Given the description of an element on the screen output the (x, y) to click on. 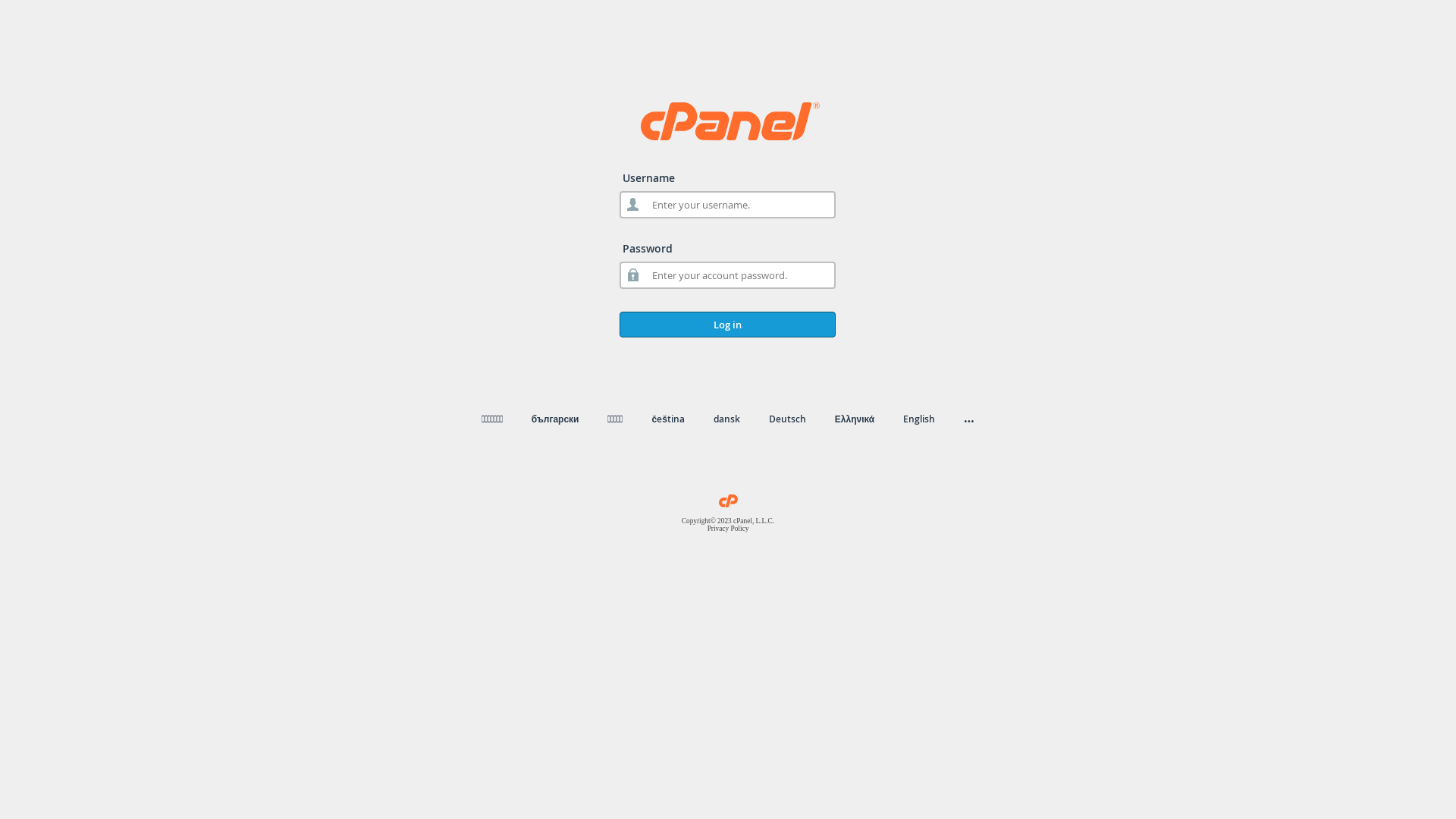
Deutsch Element type: text (787, 418)
Privacy Policy Element type: text (728, 528)
English Element type: text (919, 418)
Log in Element type: text (727, 324)
dansk Element type: text (726, 418)
